Given the description of an element on the screen output the (x, y) to click on. 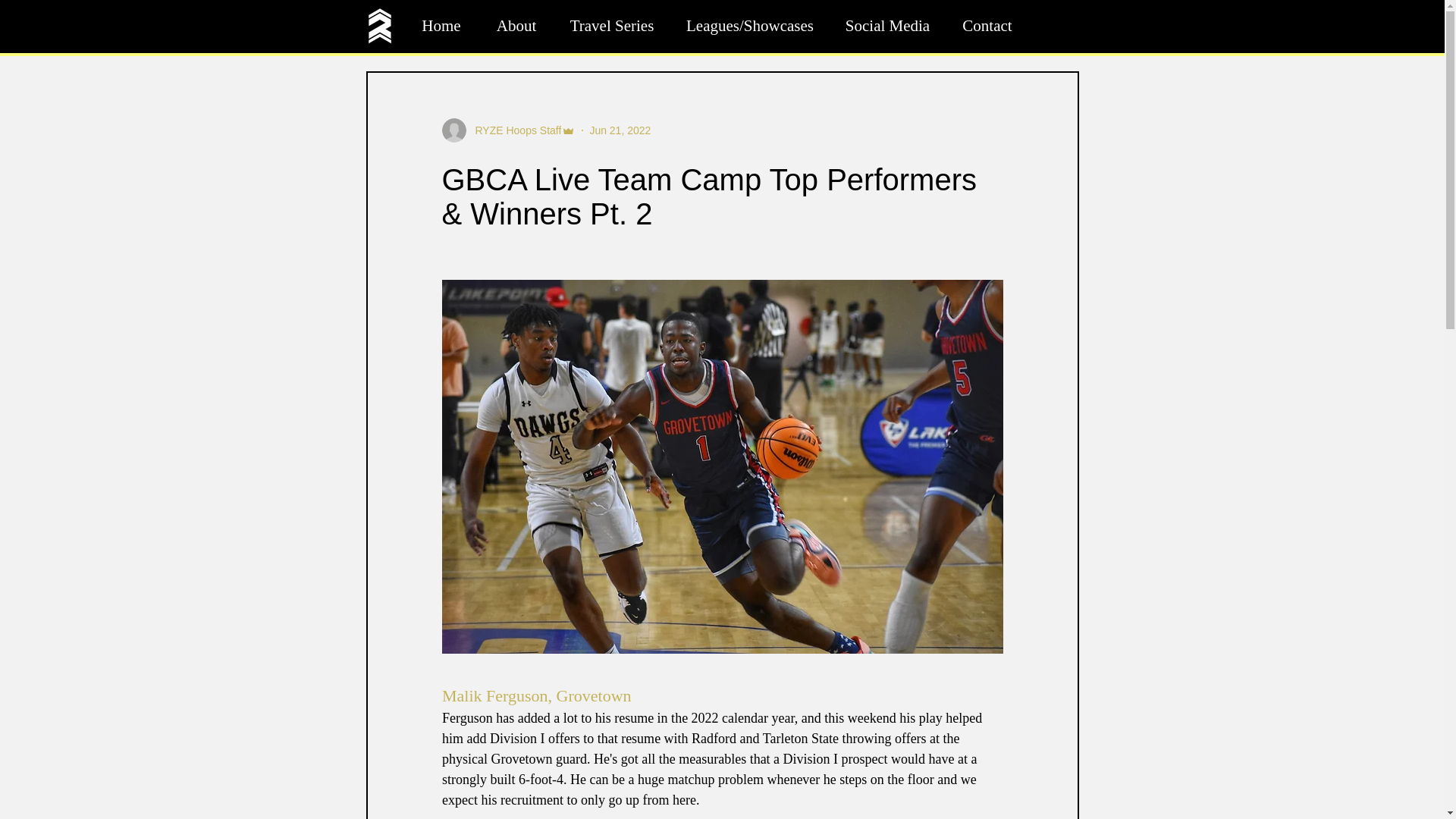
About (516, 25)
Jun 21, 2022 (619, 130)
RYZE Hoops Staff (512, 130)
Contact (986, 25)
Home (441, 25)
Social Media (886, 25)
Travel Series (611, 25)
RYZE Hoops Staff (508, 129)
